Given the description of an element on the screen output the (x, y) to click on. 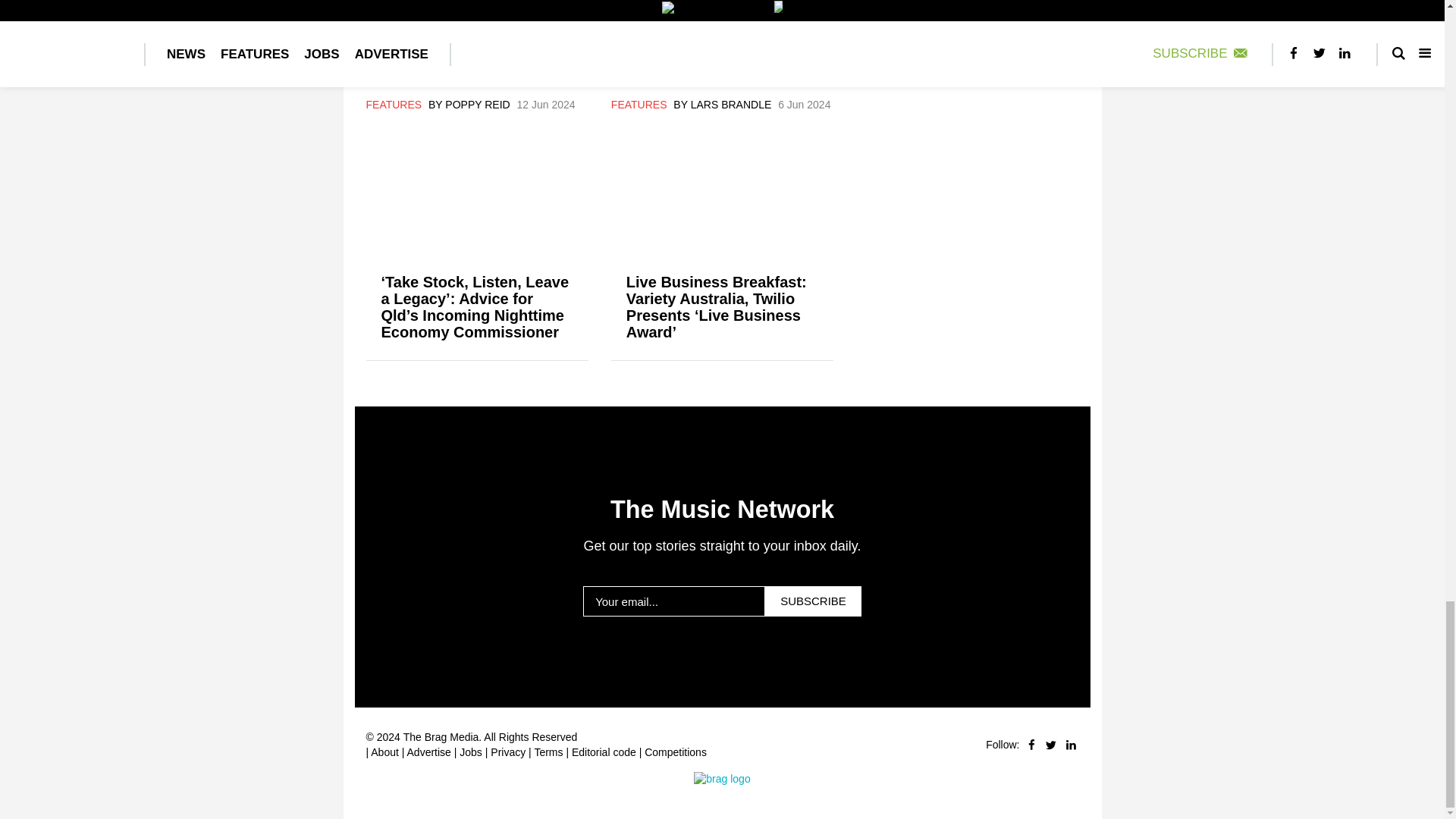
Subscribe (813, 601)
